Given the description of an element on the screen output the (x, y) to click on. 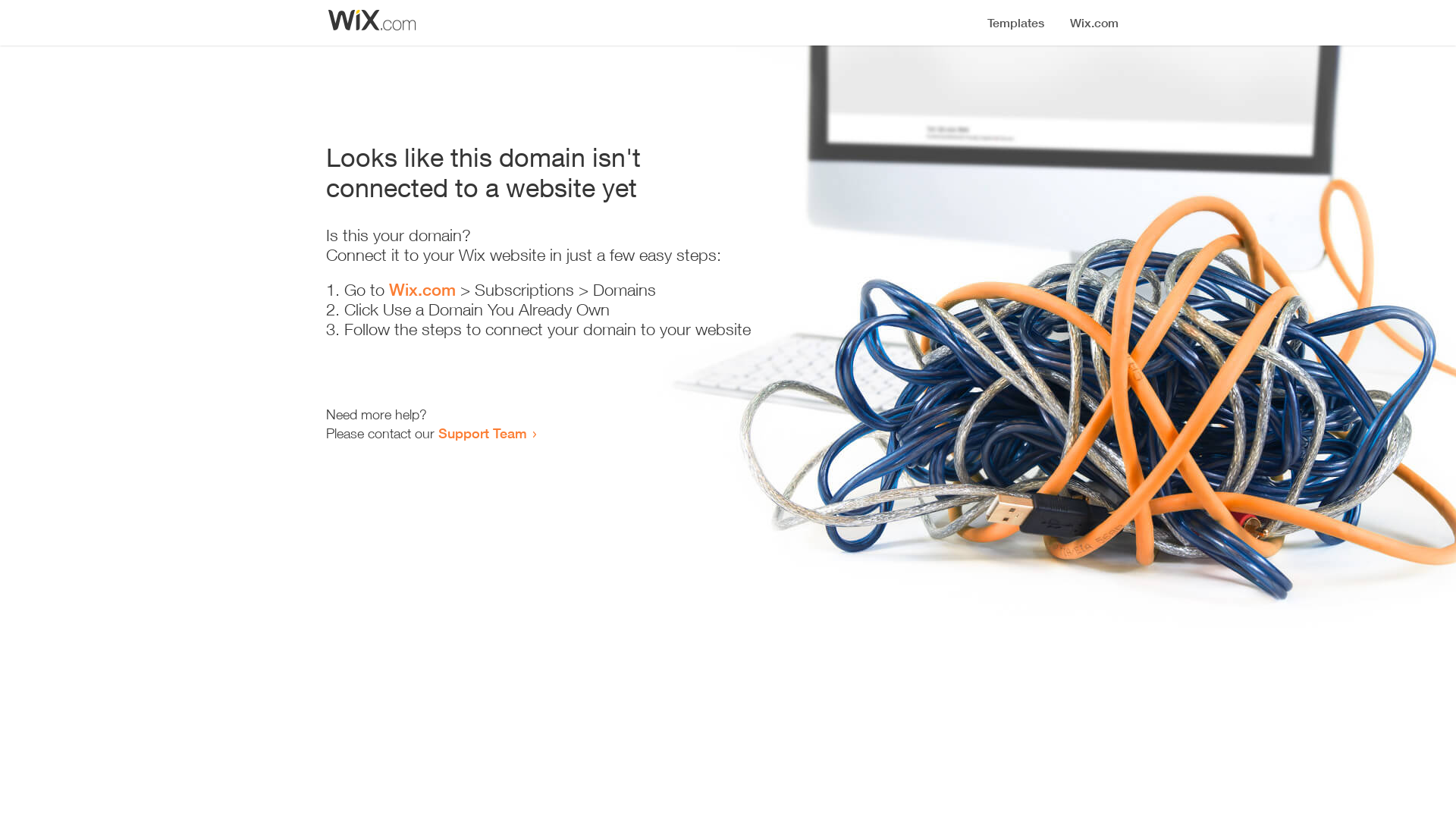
Support Team Element type: text (482, 432)
Wix.com Element type: text (422, 289)
